Given the description of an element on the screen output the (x, y) to click on. 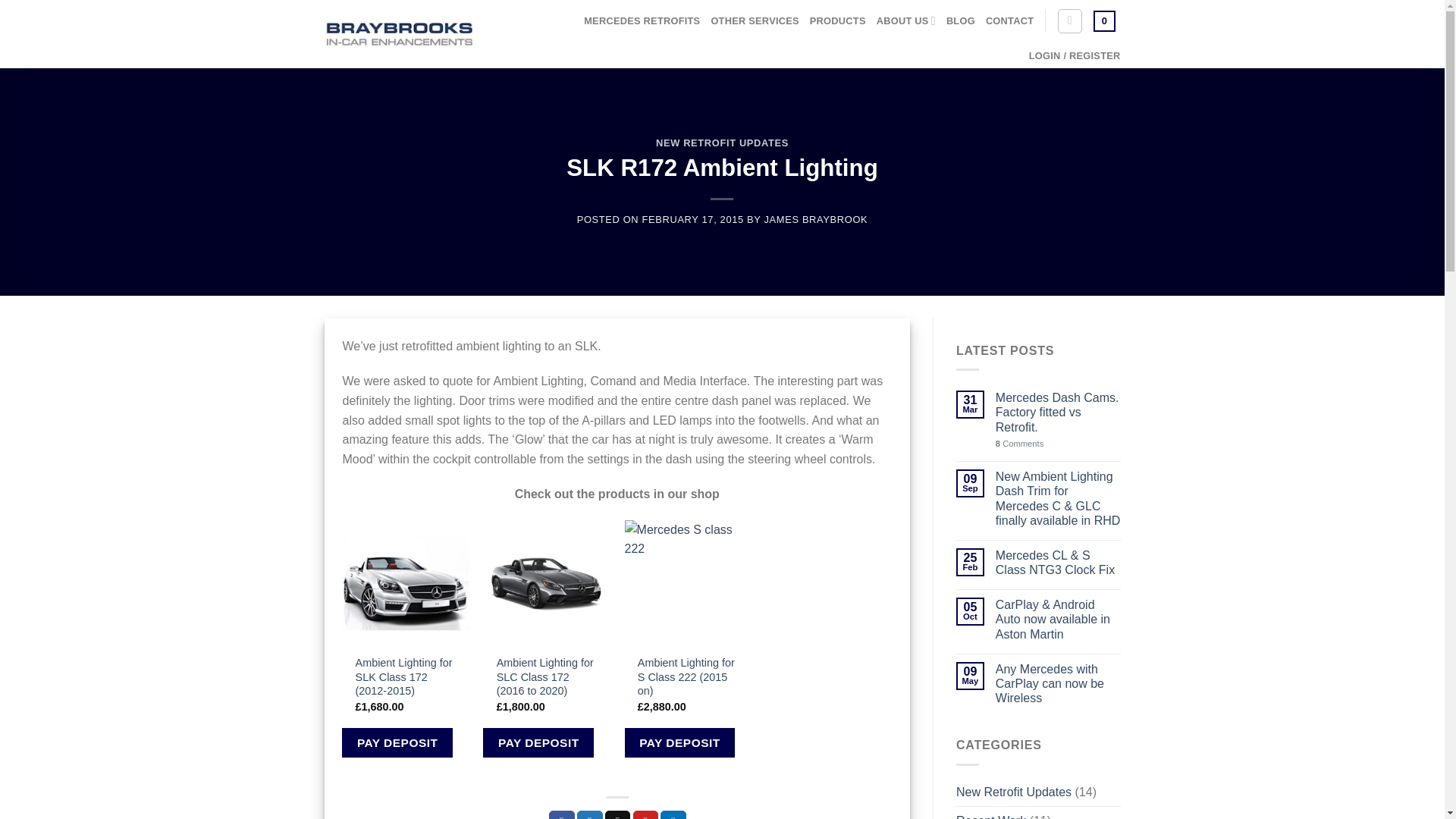
Braybrooks - Mercedes Retrofit Specialists (399, 33)
Email to a Friend (617, 814)
NEW RETROFIT UPDATES (722, 142)
PRODUCTS (837, 21)
Share on LinkedIn (673, 814)
ABOUT US (906, 20)
PAY DEPOSIT (538, 742)
PAY DEPOSIT (397, 742)
Share on Twitter (589, 814)
OTHER SERVICES (753, 21)
Share on Facebook (561, 814)
BLOG (960, 21)
Pin on Pinterest (646, 814)
MERCEDES RETROFITS (641, 21)
JAMES BRAYBROOK (815, 219)
